Given the description of an element on the screen output the (x, y) to click on. 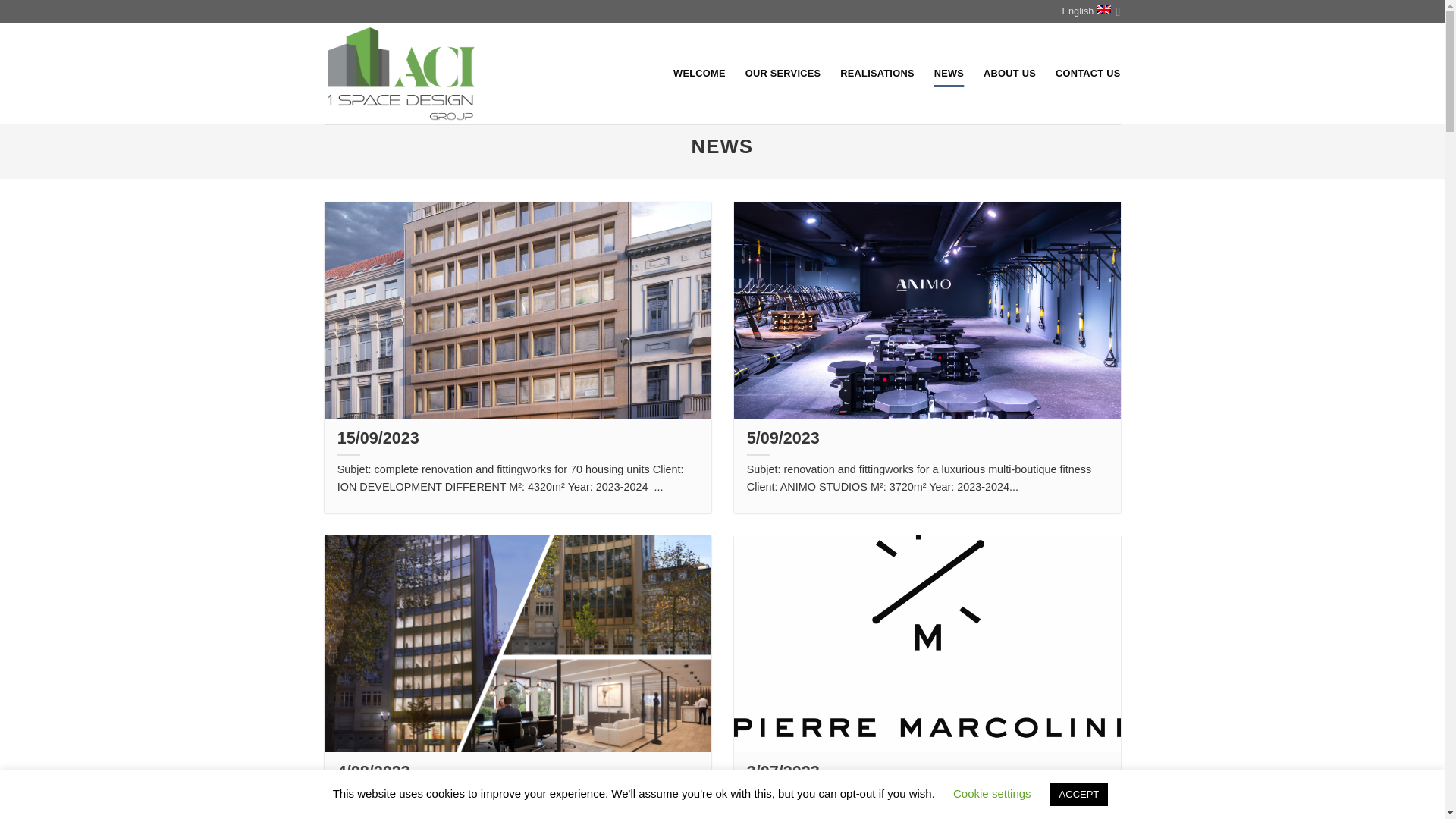
English Element type: text (1090, 11)
WELCOME Element type: text (699, 73)
ABOUT US Element type: text (1009, 73)
REALISATIONS Element type: text (876, 73)
ACI - Entreprise de construction Element type: hover (419, 73)
CONTACT US Element type: text (1087, 73)
Cookie settings Element type: text (992, 793)
ACCEPT Element type: text (1079, 794)
NEWS Element type: text (948, 73)
OUR SERVICES Element type: text (783, 73)
